Given the description of an element on the screen output the (x, y) to click on. 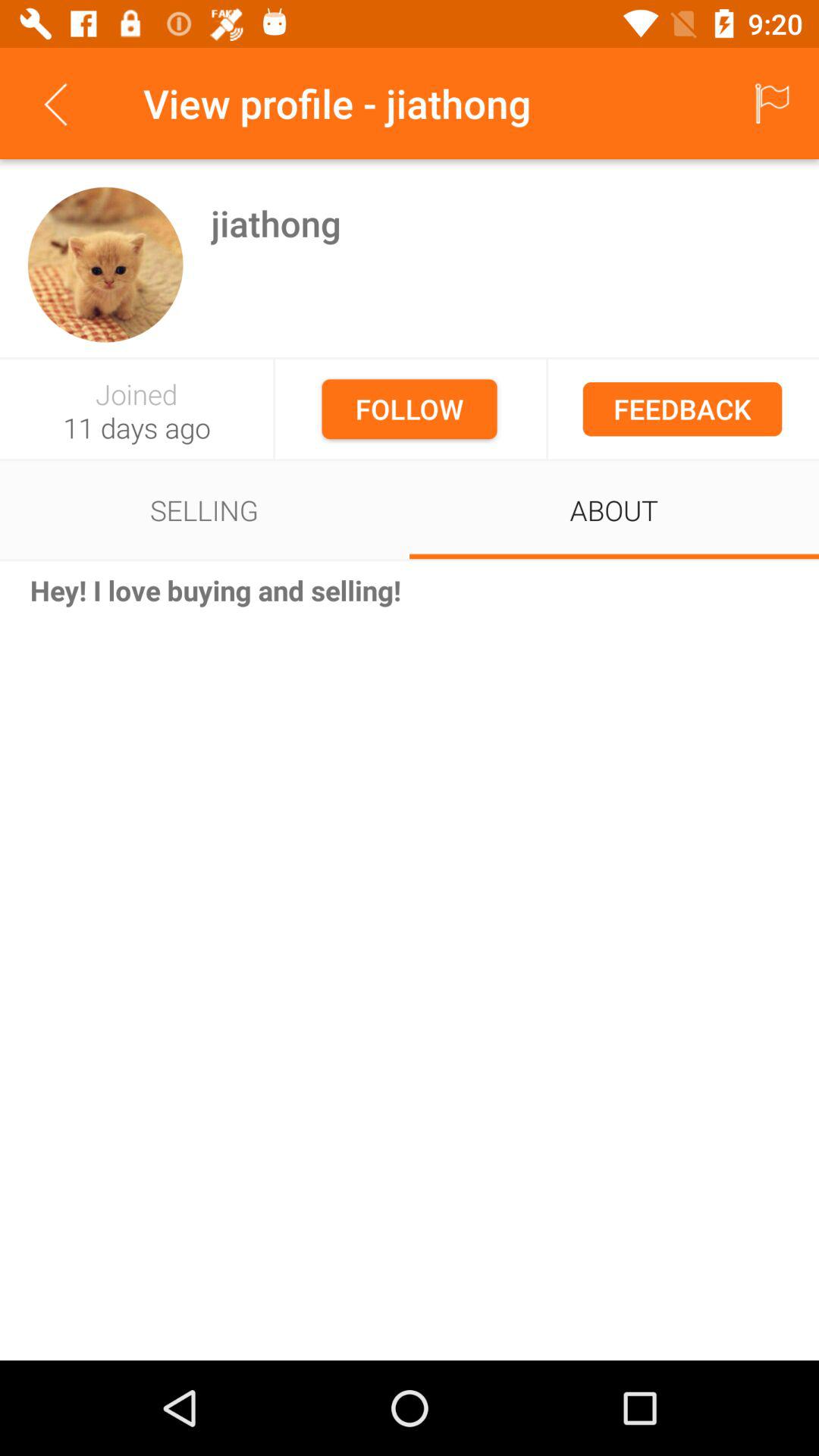
select the picture (105, 264)
